Given the description of an element on the screen output the (x, y) to click on. 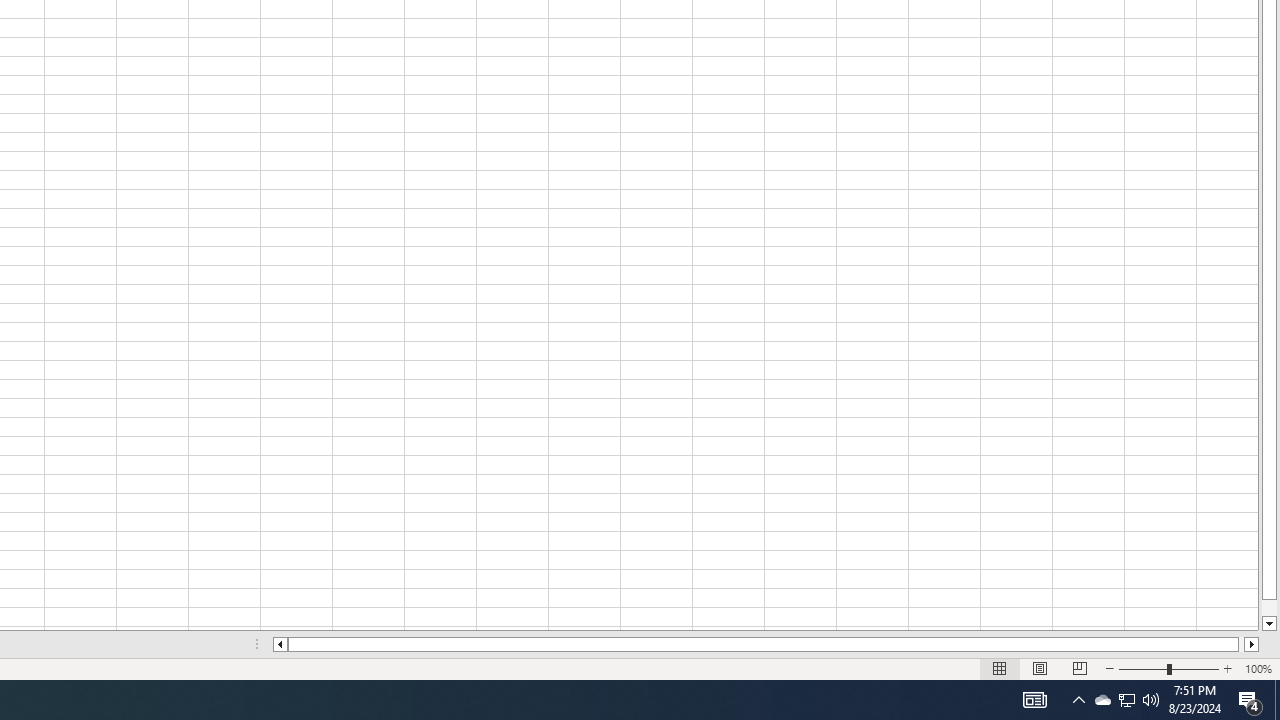
Page right (1241, 644)
Page down (1268, 607)
